Given the description of an element on the screen output the (x, y) to click on. 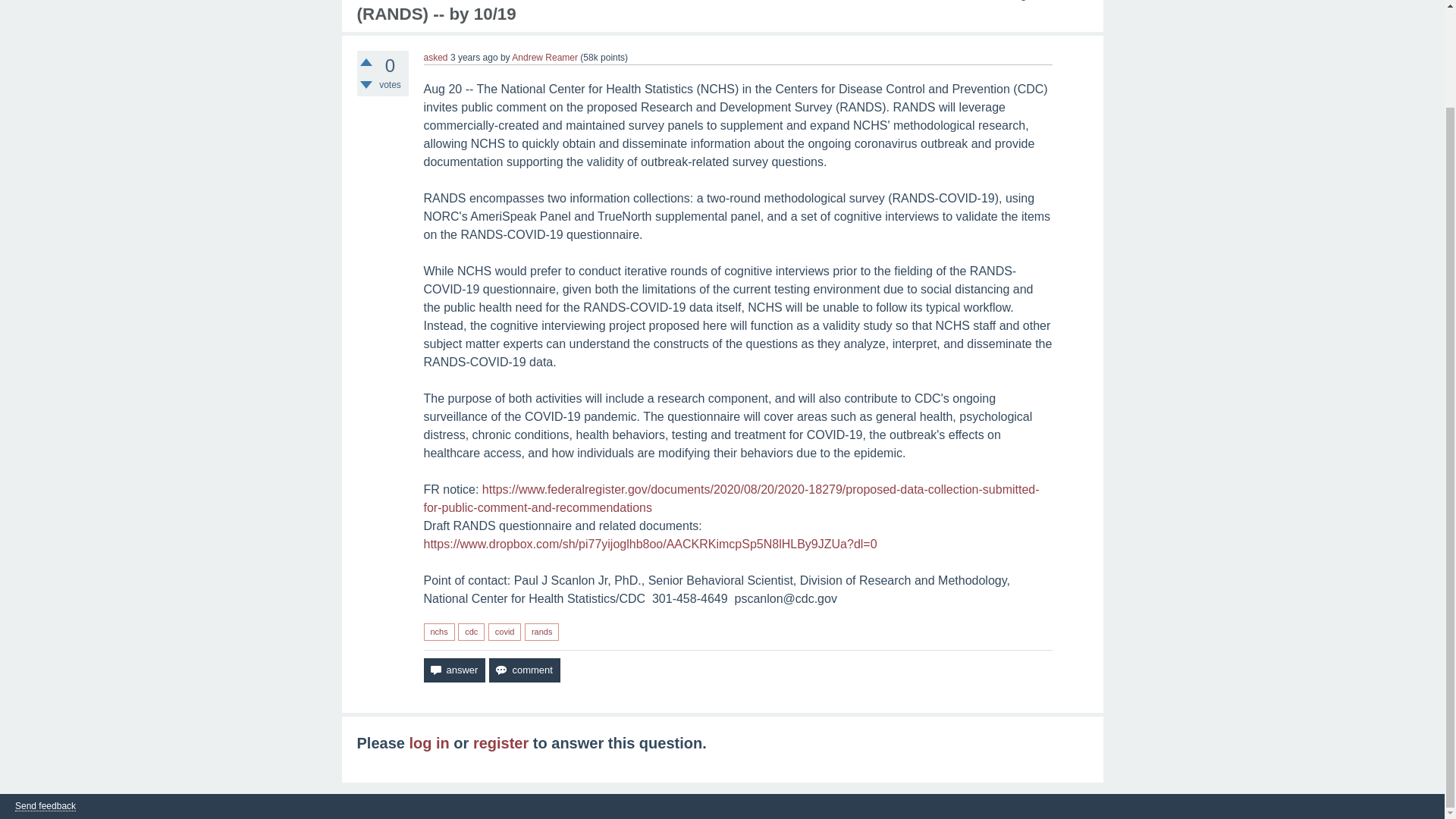
answer (453, 670)
Send feedback (44, 806)
answer (453, 670)
cdc (471, 631)
Click to vote up (365, 62)
Answer this question (453, 670)
rands (541, 631)
Andrew Reamer (545, 57)
covid (504, 631)
comment (524, 670)
comment (524, 670)
Add a comment on this question (524, 670)
Click to vote down (365, 84)
register (500, 742)
log in (428, 742)
